Given the description of an element on the screen output the (x, y) to click on. 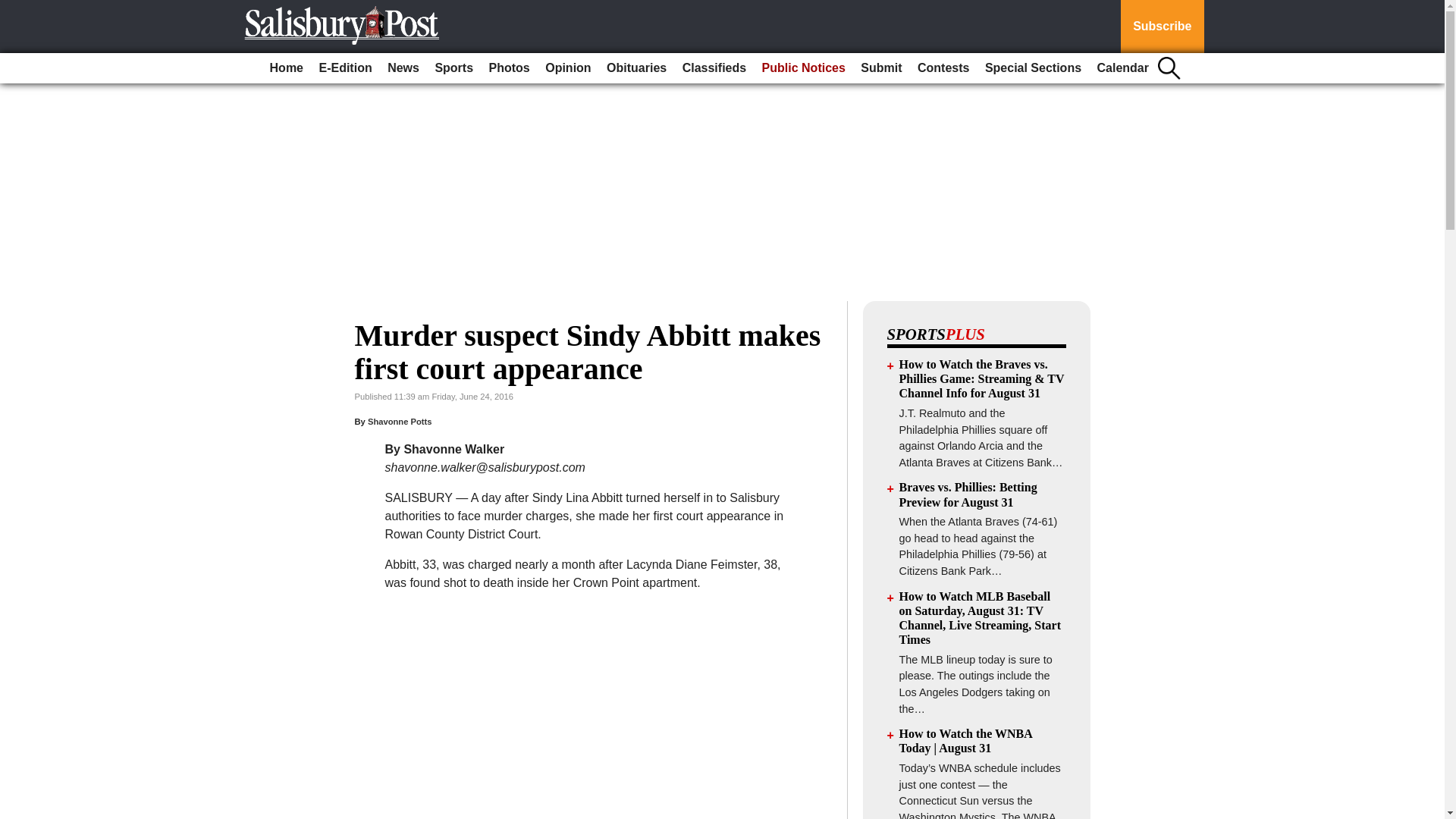
Submit (880, 68)
Sports (453, 68)
Classifieds (714, 68)
Subscribe (1162, 26)
Obituaries (635, 68)
Home (285, 68)
Photos (509, 68)
E-Edition (345, 68)
News (403, 68)
Opinion (567, 68)
